Given the description of an element on the screen output the (x, y) to click on. 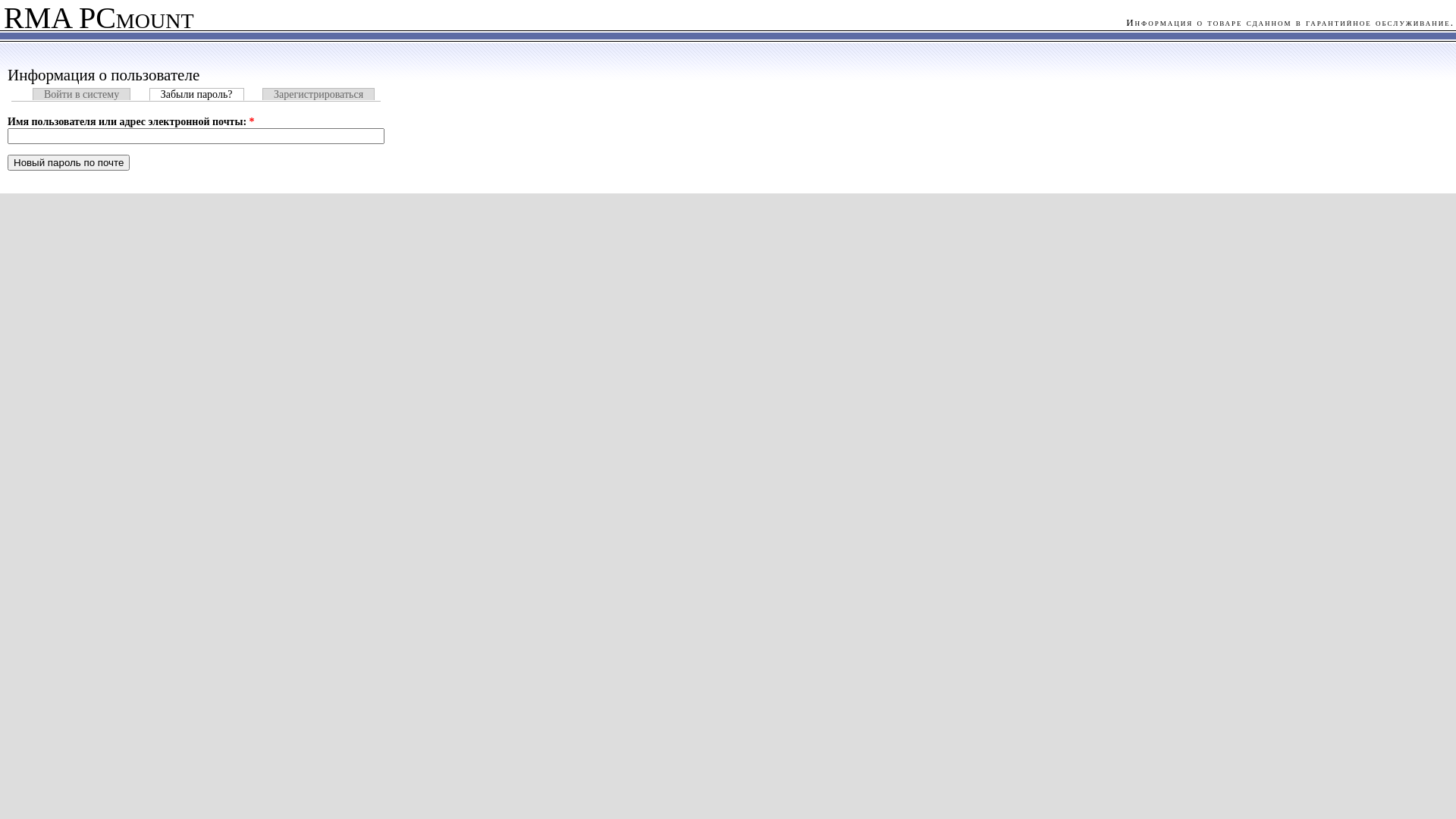
RMA PCmount Element type: text (97, 21)
